Given the description of an element on the screen output the (x, y) to click on. 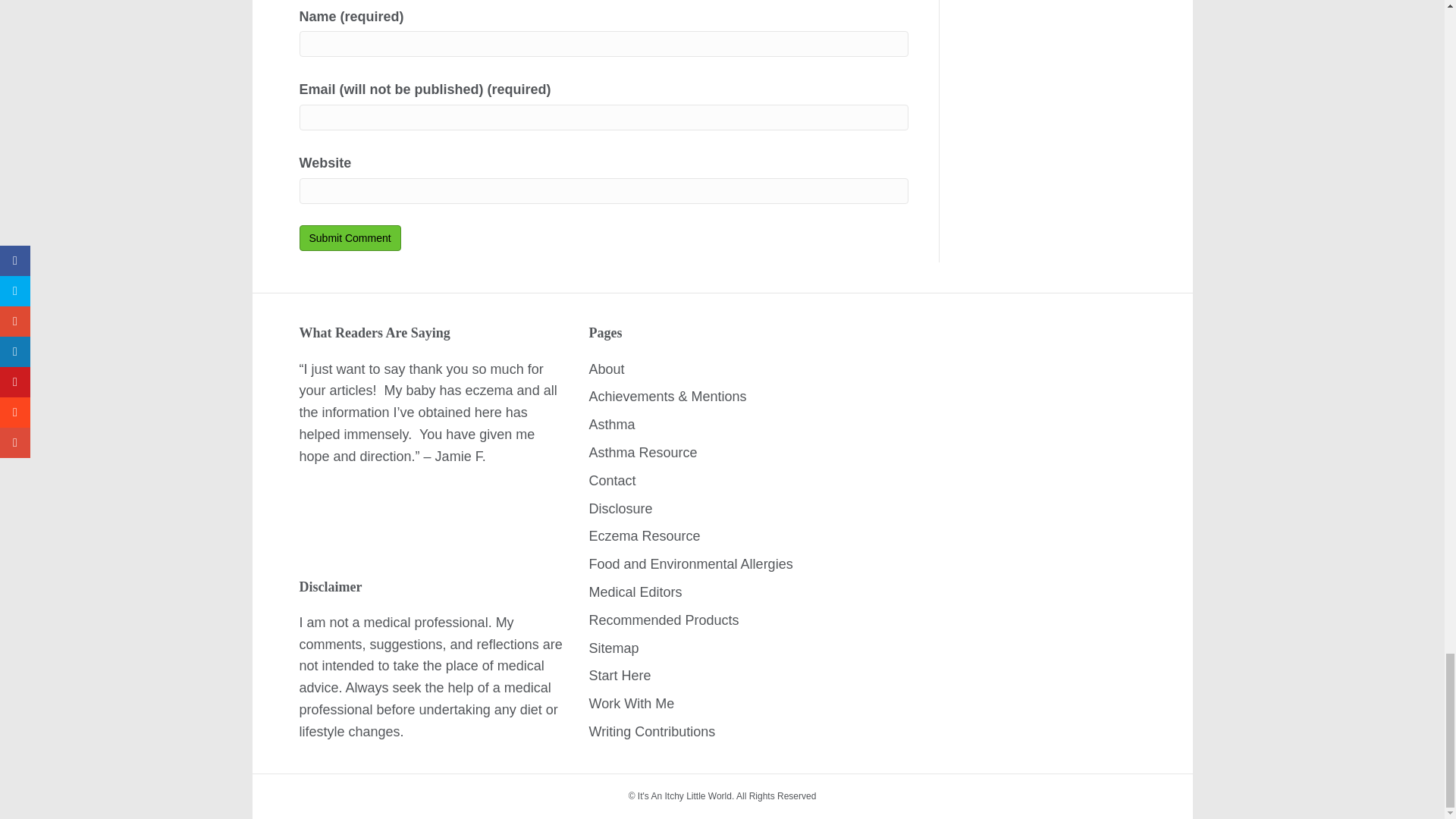
Submit Comment (349, 237)
